Given the description of an element on the screen output the (x, y) to click on. 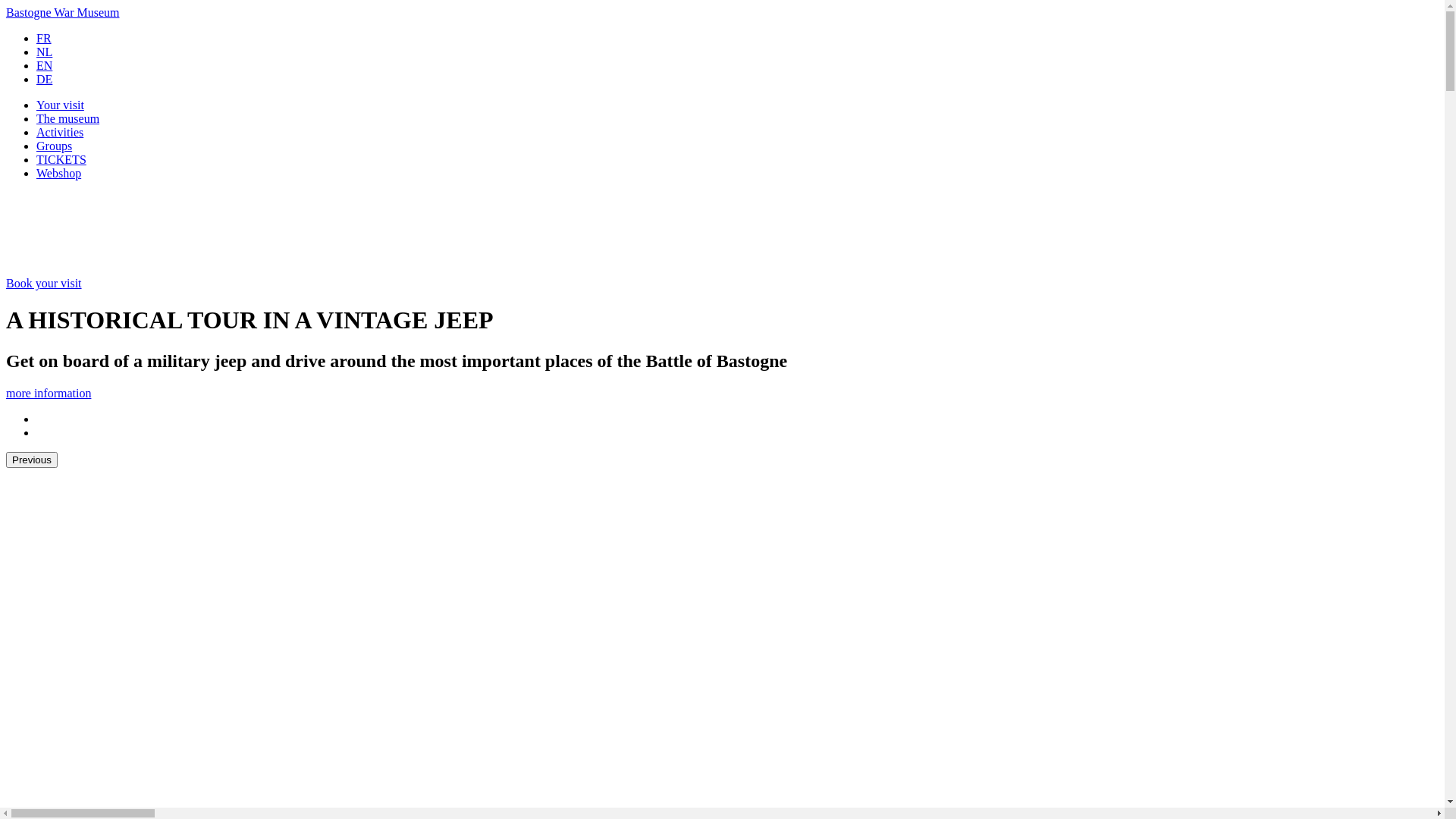
more information Element type: text (48, 392)
FR Element type: text (43, 37)
NL Element type: text (44, 51)
DE Element type: text (44, 78)
TICKETS Element type: text (61, 159)
The museum Element type: text (67, 118)
Your visit Element type: text (60, 104)
Groups Element type: text (54, 145)
EN Element type: text (44, 65)
Bastogne War Museum Element type: text (62, 12)
Book your visit Element type: text (43, 282)
Webshop Element type: text (58, 172)
Activities Element type: text (59, 131)
Previous Element type: text (31, 459)
